Given the description of an element on the screen output the (x, y) to click on. 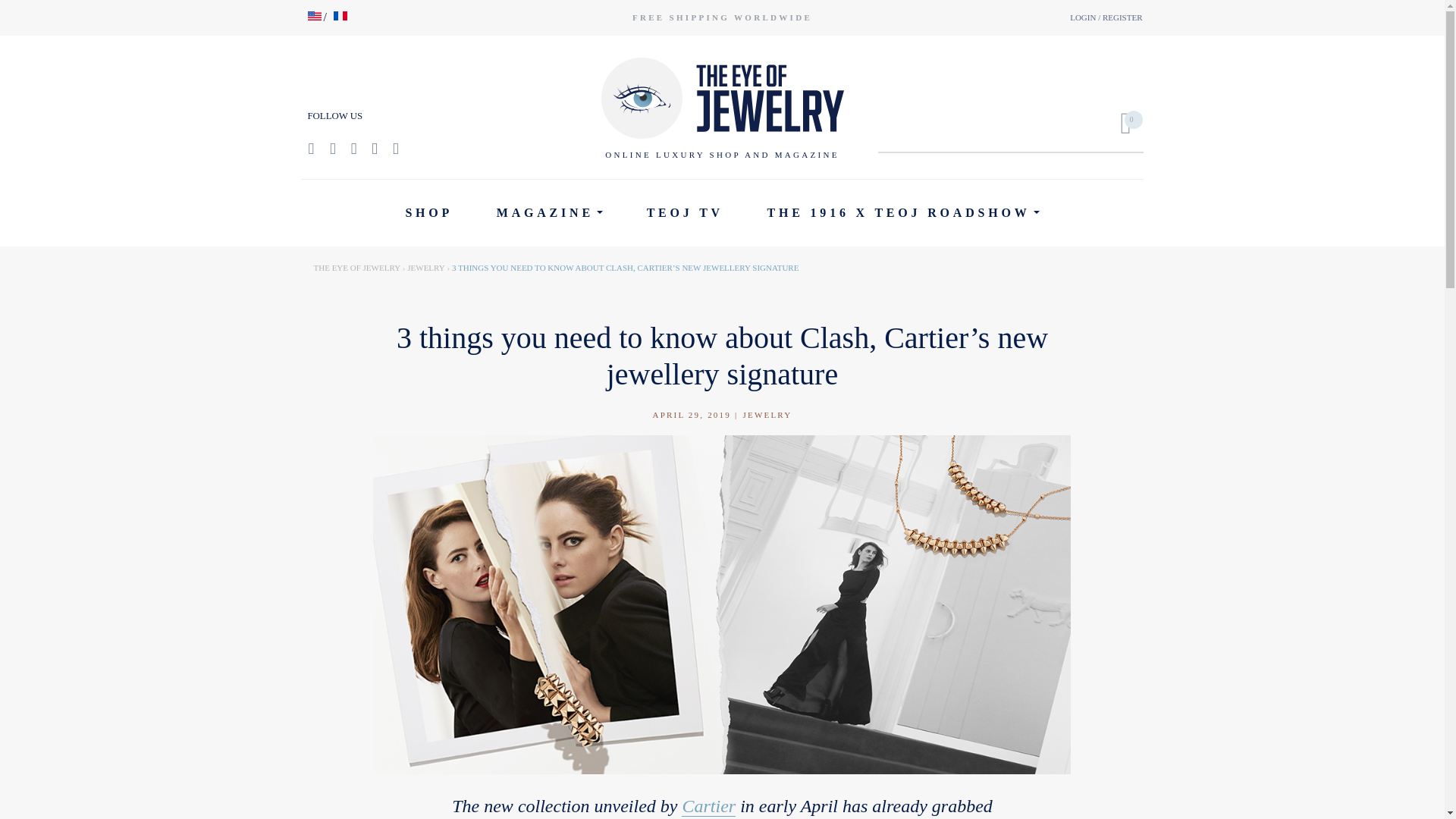
View your shopping cart (1118, 123)
JEWELRY (767, 413)
0 (1118, 123)
THE 1916 X TEOJ ROADSHOW (903, 213)
MAGAZINE (549, 213)
THE EYE OF JEWELRY (357, 266)
Cartier (708, 806)
TEOJ TV (684, 213)
JEWELRY (426, 266)
SHOP (429, 213)
FREE SHIPPING WORLDWIDE (722, 17)
